Given the description of an element on the screen output the (x, y) to click on. 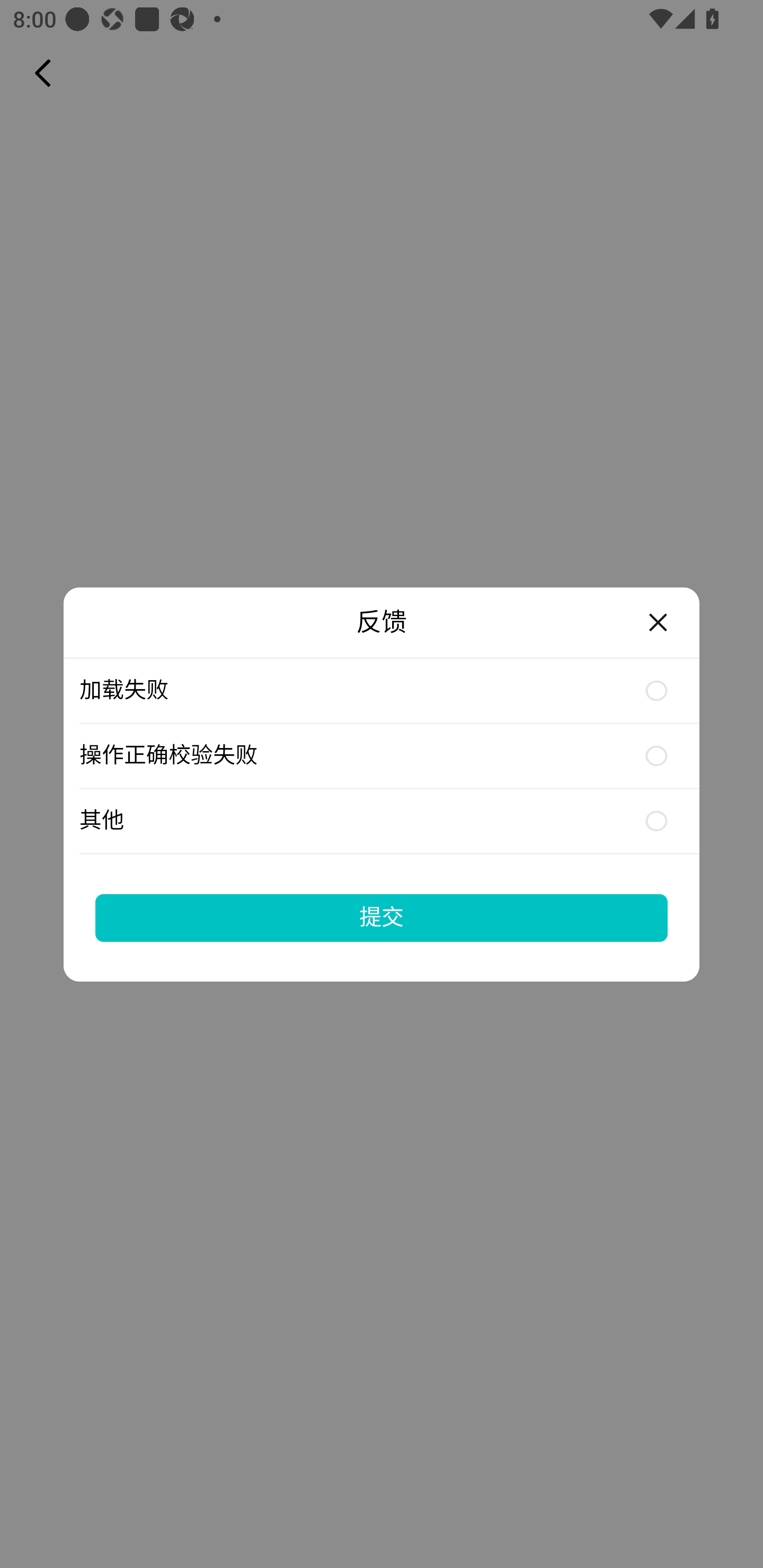
提交 (381, 917)
